Given the description of an element on the screen output the (x, y) to click on. 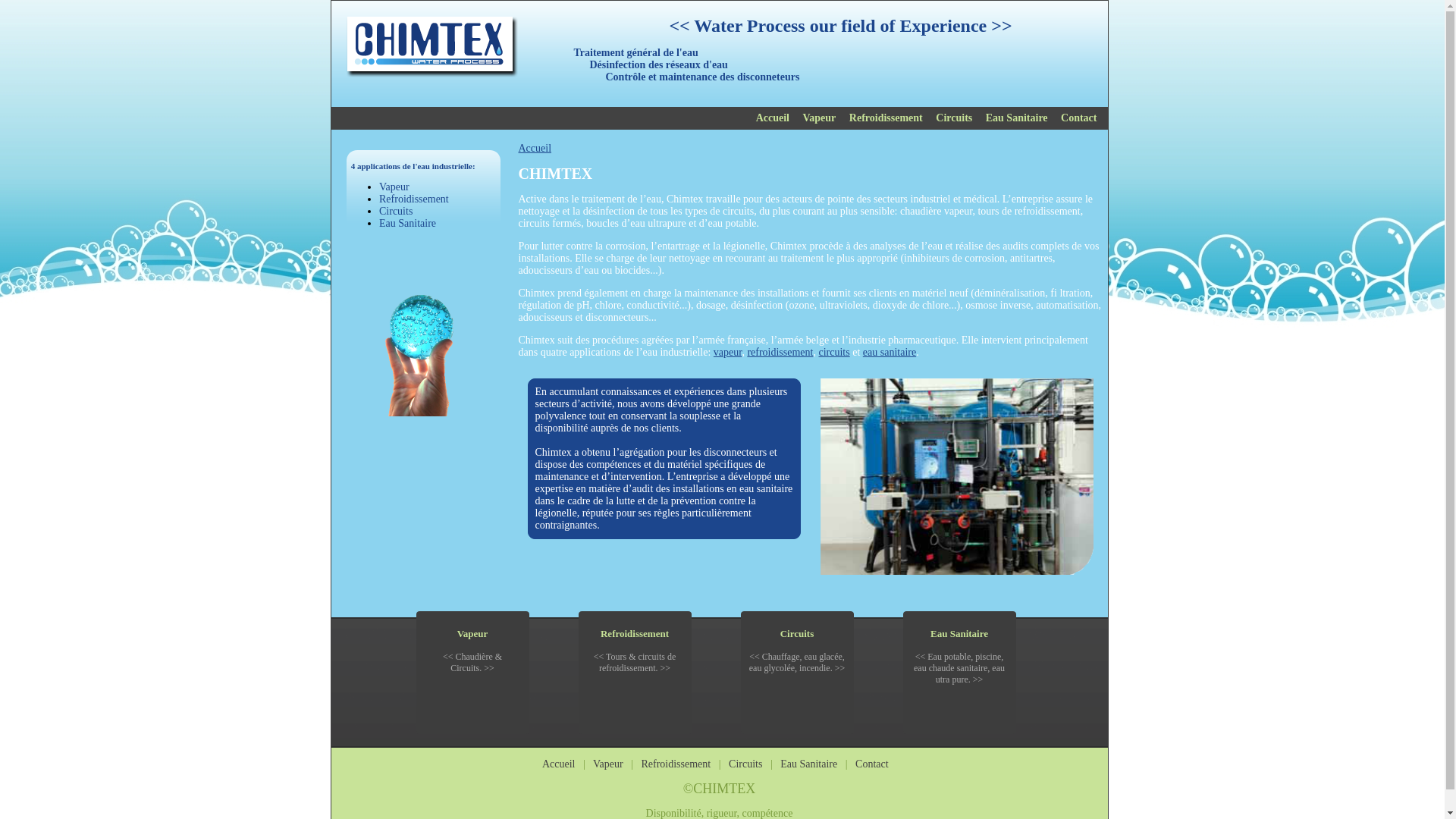
Vapeur Element type: text (608, 763)
vapeur Element type: text (727, 351)
refroidissement Element type: text (779, 351)
Vapeur Element type: text (394, 186)
Circuits Element type: text (797, 633)
Vapeur Element type: text (818, 117)
Refroidissement Element type: text (885, 117)
Eau Sanitaire Element type: text (959, 633)
Refroidissement Element type: text (675, 763)
Vapeur Element type: text (472, 633)
Circuits Element type: text (953, 117)
Refroidissement Element type: text (634, 633)
Refroidissement Element type: text (413, 198)
Eau Sanitaire Element type: text (407, 223)
Eau Sanitaire Element type: text (808, 763)
Contact Element type: text (871, 763)
Accueil Element type: text (535, 147)
Eau Sanitaire Element type: text (1016, 117)
Contact Element type: text (1078, 117)
Accueil Element type: text (558, 763)
Circuits Element type: text (745, 763)
eau sanitaire Element type: text (889, 351)
Circuits Element type: text (395, 210)
circuits Element type: text (833, 351)
Accueil Element type: text (772, 117)
